Given the description of an element on the screen output the (x, y) to click on. 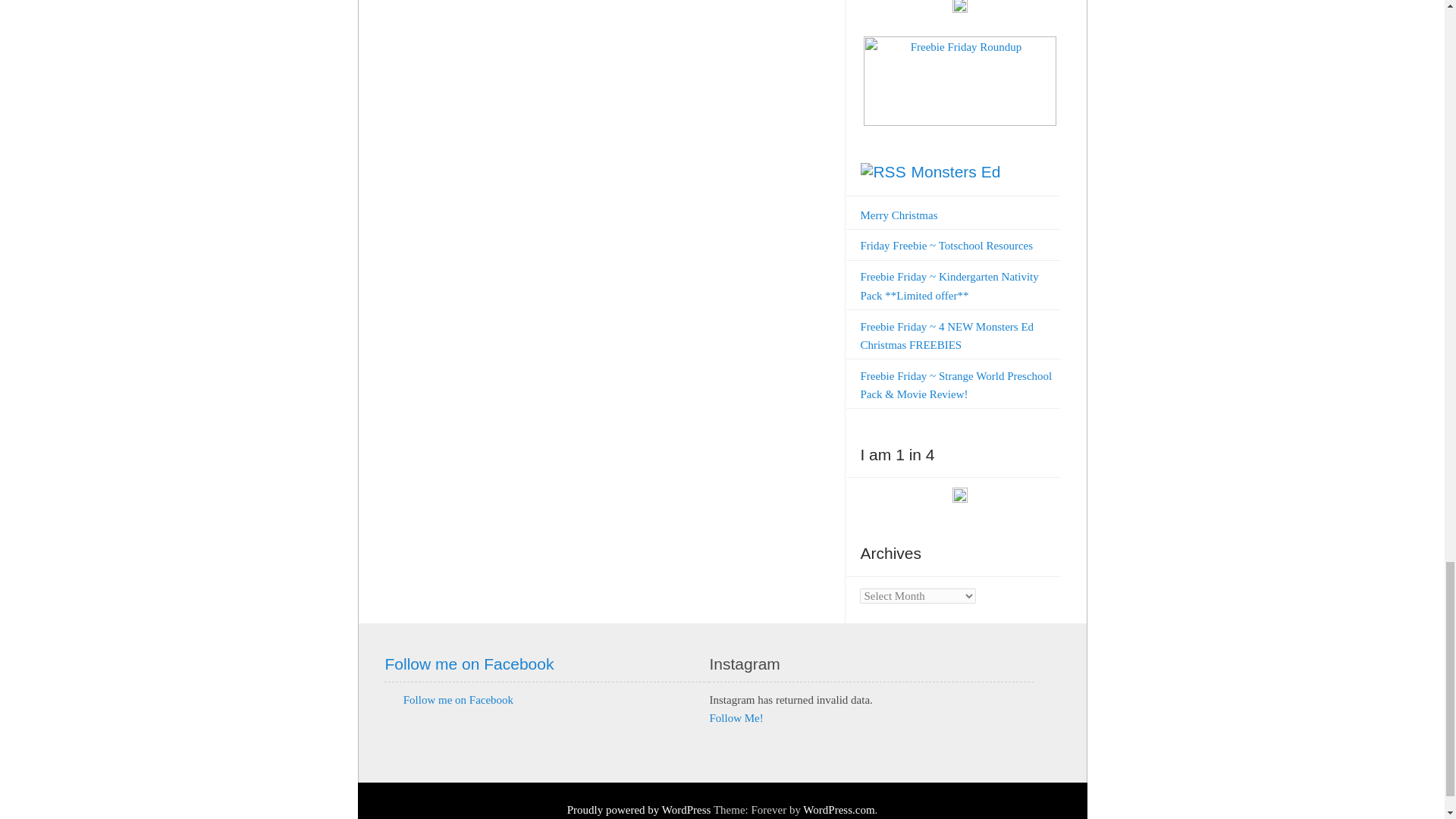
South African Bloggers (960, 9)
A Semantic Personal Publishing Platform (639, 809)
